Given the description of an element on the screen output the (x, y) to click on. 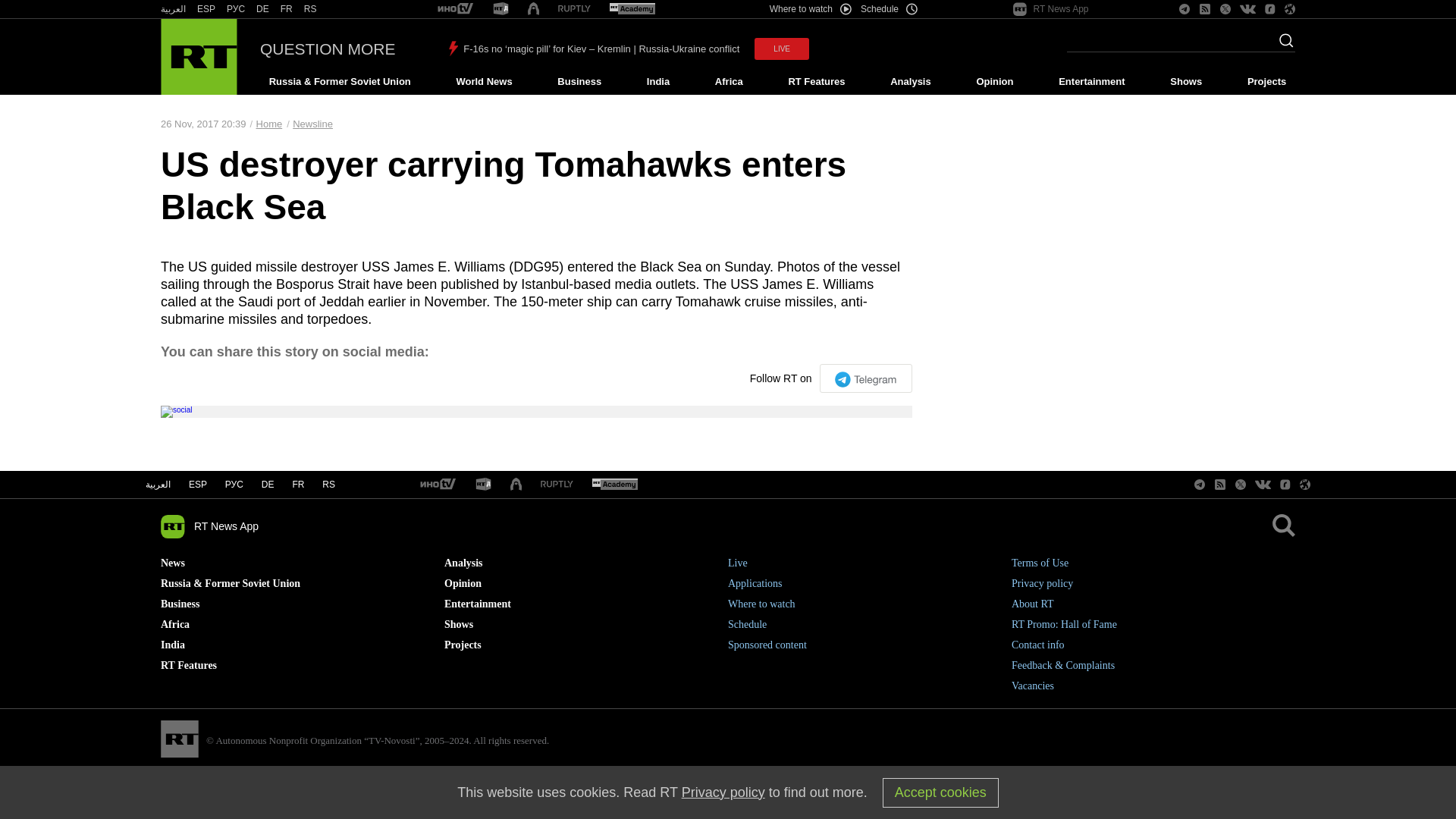
RT  (173, 9)
RT  (438, 484)
RT News App (1051, 9)
QUESTION MORE (328, 48)
Shows (1186, 81)
RT  (235, 9)
RT  (262, 9)
RT  (500, 9)
RT  (456, 9)
RT  (205, 9)
RT  (484, 484)
Africa (728, 81)
RT Features (816, 81)
RS (310, 9)
Entertainment (1091, 81)
